Given the description of an element on the screen output the (x, y) to click on. 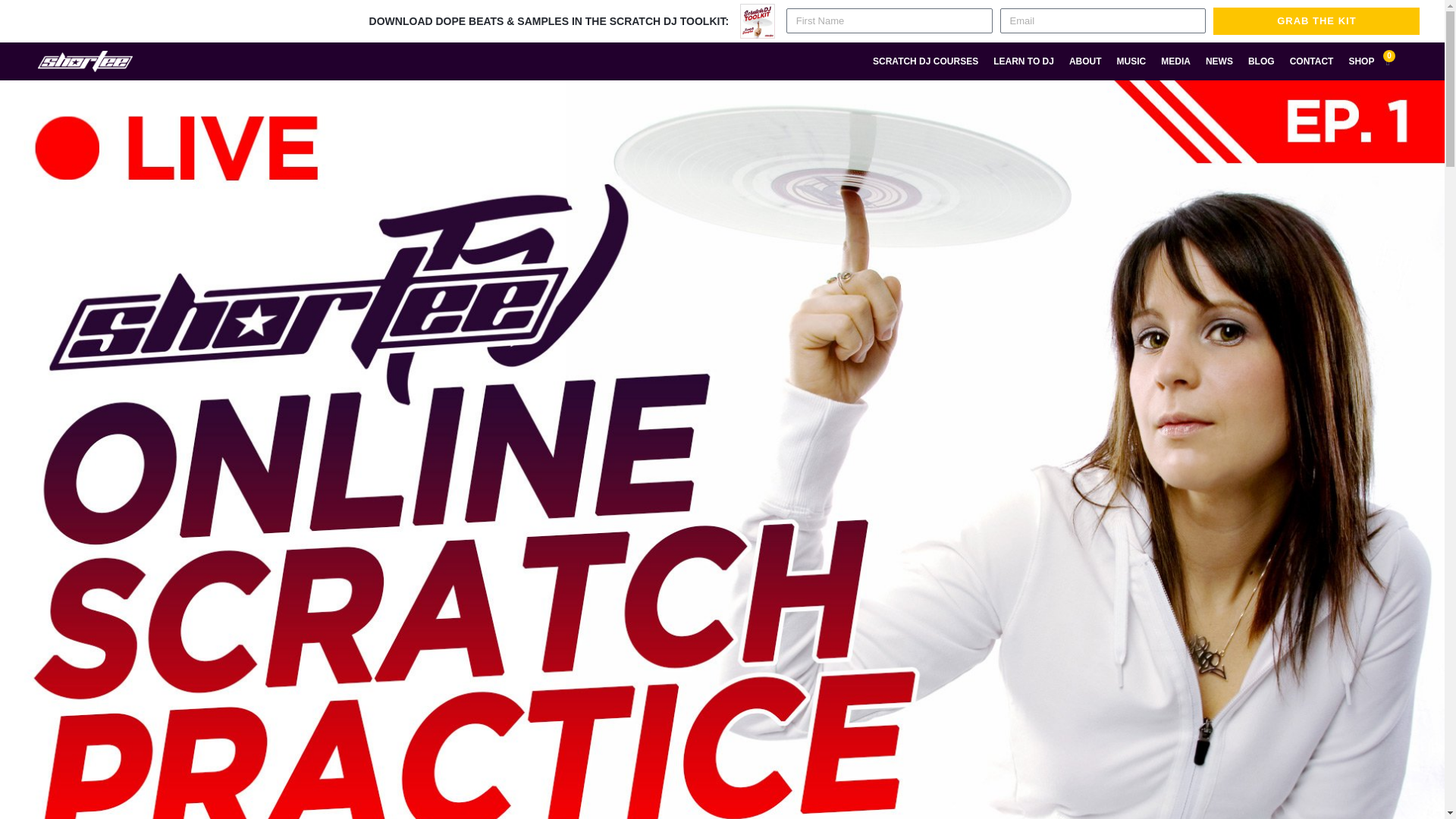
MUSIC (1131, 60)
GRAB THE KIT (1315, 21)
NEWS (1219, 60)
CONTACT (1311, 60)
SCRATCH DJ COURSES (924, 60)
LEARN TO DJ (1023, 60)
MEDIA (1175, 60)
BLOG (1261, 60)
SHOP (1360, 60)
ABOUT (1085, 60)
